Given the description of an element on the screen output the (x, y) to click on. 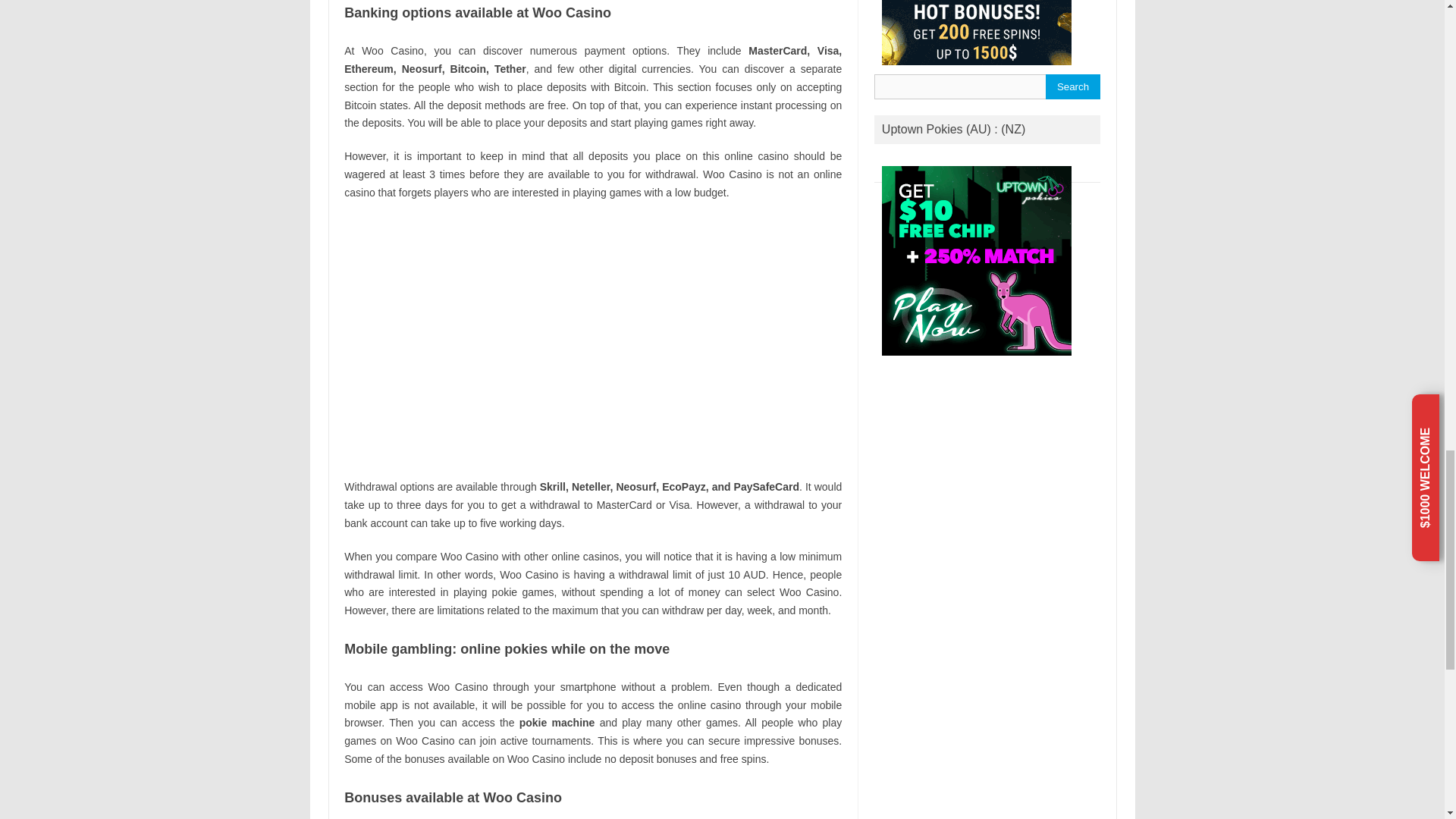
Search (1072, 86)
